Given the description of an element on the screen output the (x, y) to click on. 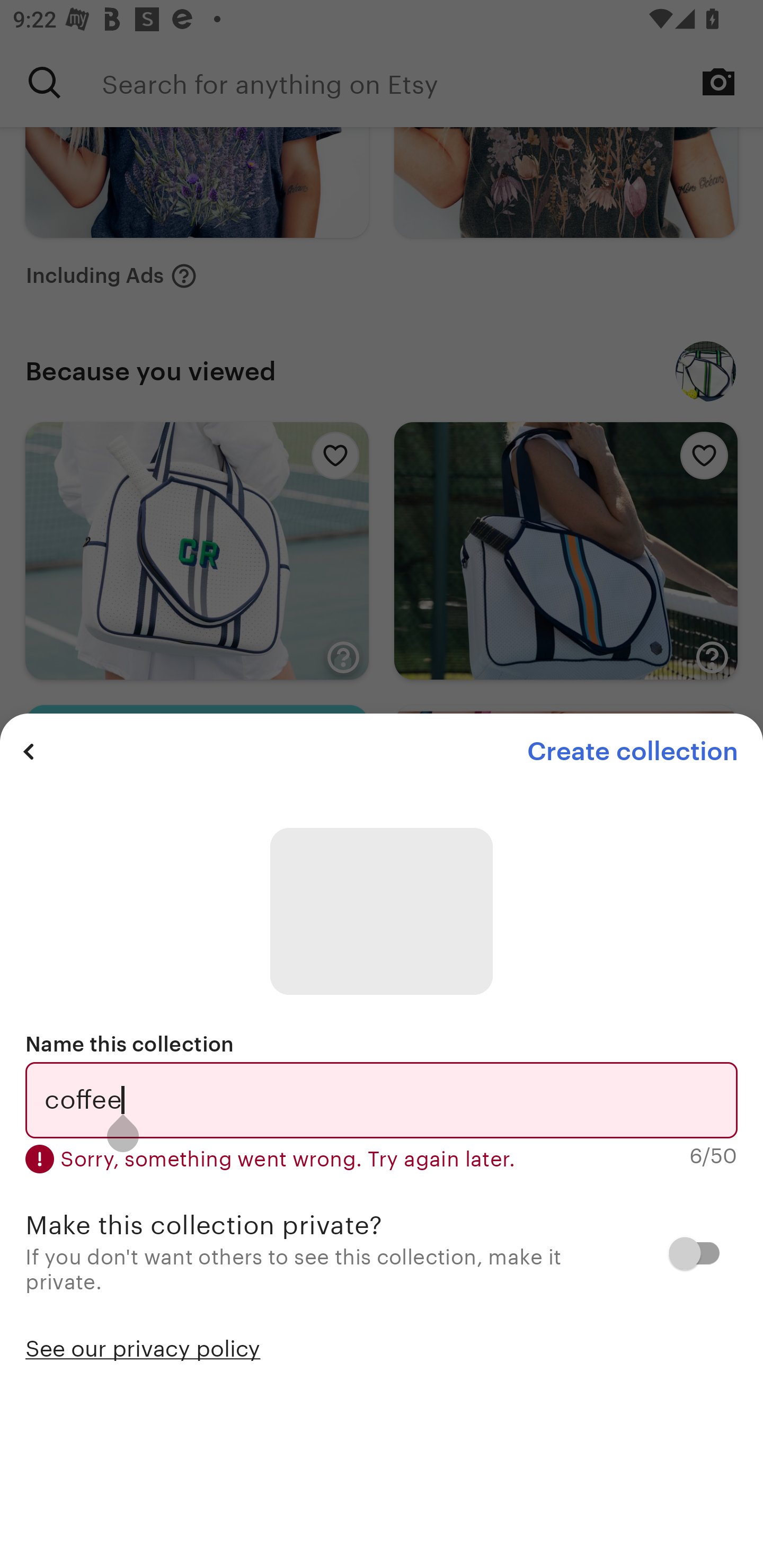
Previous (28, 751)
Create collection (632, 751)
coffee (381, 1099)
See our privacy policy (142, 1346)
